Given the description of an element on the screen output the (x, y) to click on. 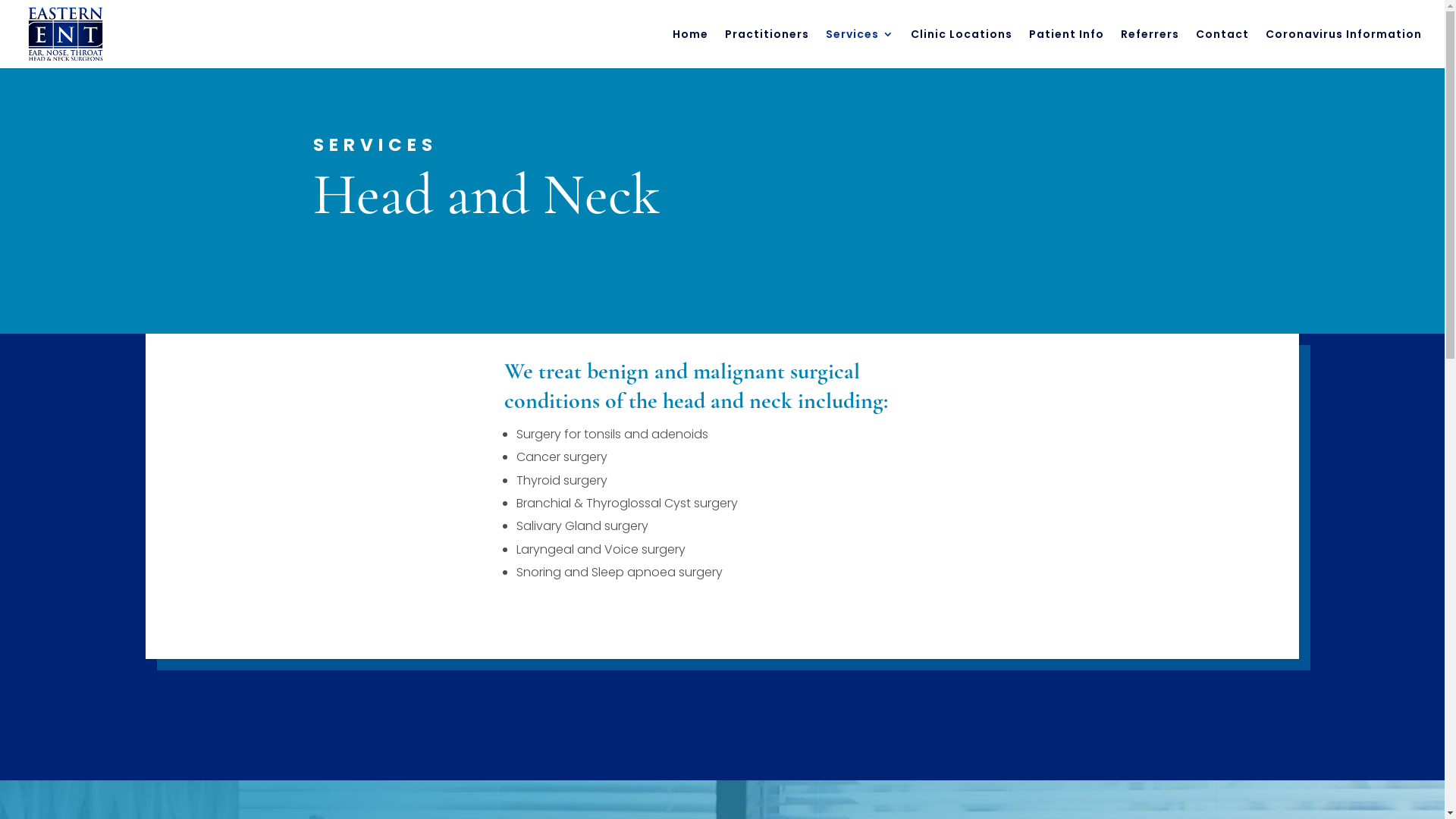
Practitioners Element type: text (766, 48)
Coronavirus Information Element type: text (1343, 48)
Services Element type: text (859, 48)
Patient Info Element type: text (1066, 48)
Home Element type: text (690, 48)
Contact Element type: text (1221, 48)
Referrers Element type: text (1149, 48)
Clinic Locations Element type: text (961, 48)
